Given the description of an element on the screen output the (x, y) to click on. 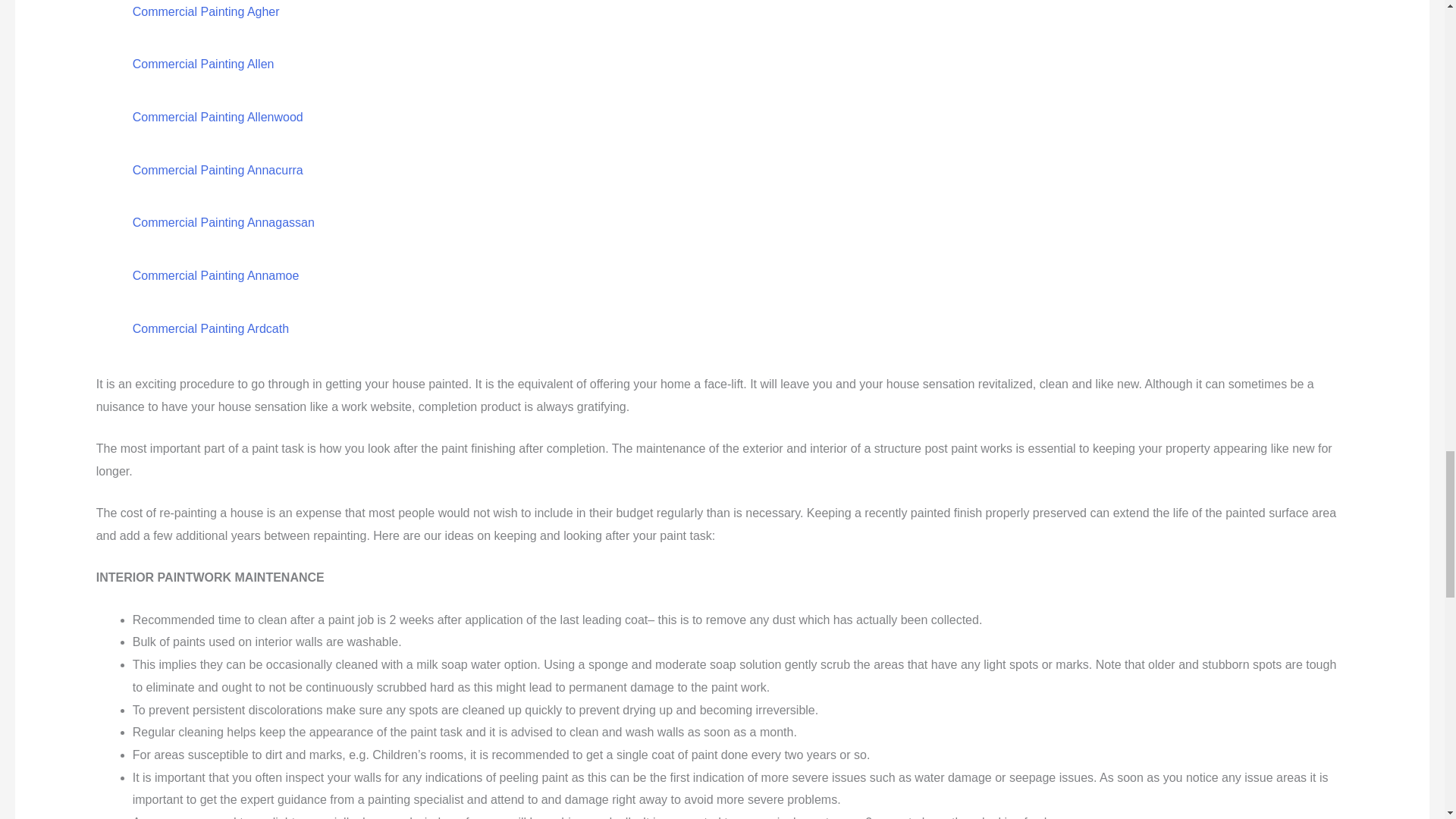
Commercial Painting Agher (205, 10)
Commercial Painting Annamoe (215, 275)
Commercial Painting Allenwood (217, 116)
Commercial Painting Allen (203, 63)
Commercial Painting Ardcath (210, 328)
Commercial Painting Annagassan (223, 222)
Commercial Painting Annacurra (217, 169)
Commercial Painting Allenwood (217, 116)
Commercial Painting Agher (205, 10)
Commercial Painting Annamoe (215, 275)
